Given the description of an element on the screen output the (x, y) to click on. 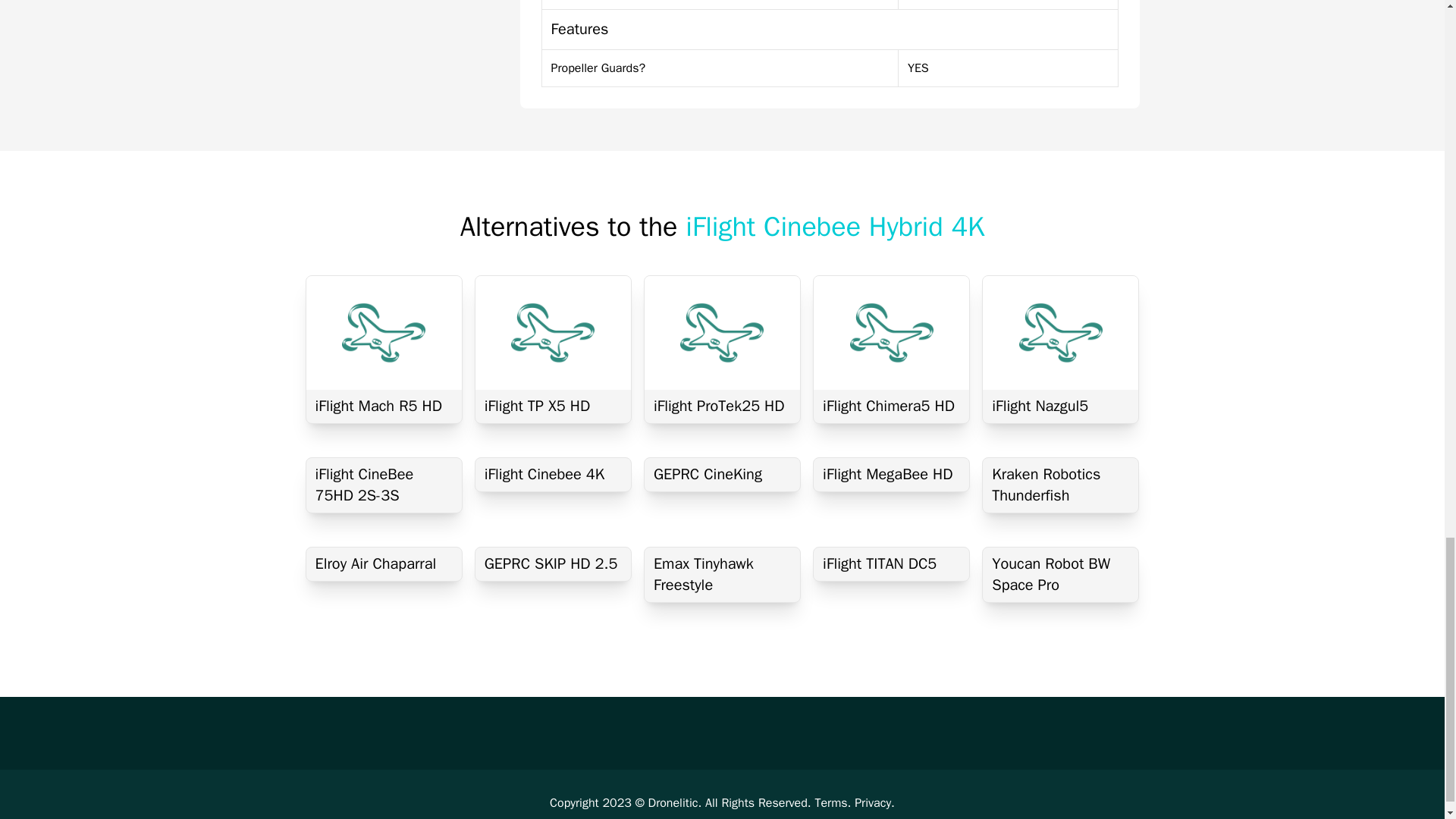
iFlight MegaBee HD (891, 474)
iFlight Mach R5 HD (383, 406)
iFlight CineBee 75HD 2S-3S (383, 484)
iFlight Chimera5 HD (891, 406)
iFlight ProTek25 HD (722, 406)
iFlight Cinebee 4K (553, 474)
GEPRC CineKing (722, 474)
iFlight TP X5 HD (553, 406)
Elroy Air Chaparral (383, 563)
iFlight Nazgul5 (1060, 406)
Kraken Robotics Thunderfish (1060, 484)
